Given the description of an element on the screen output the (x, y) to click on. 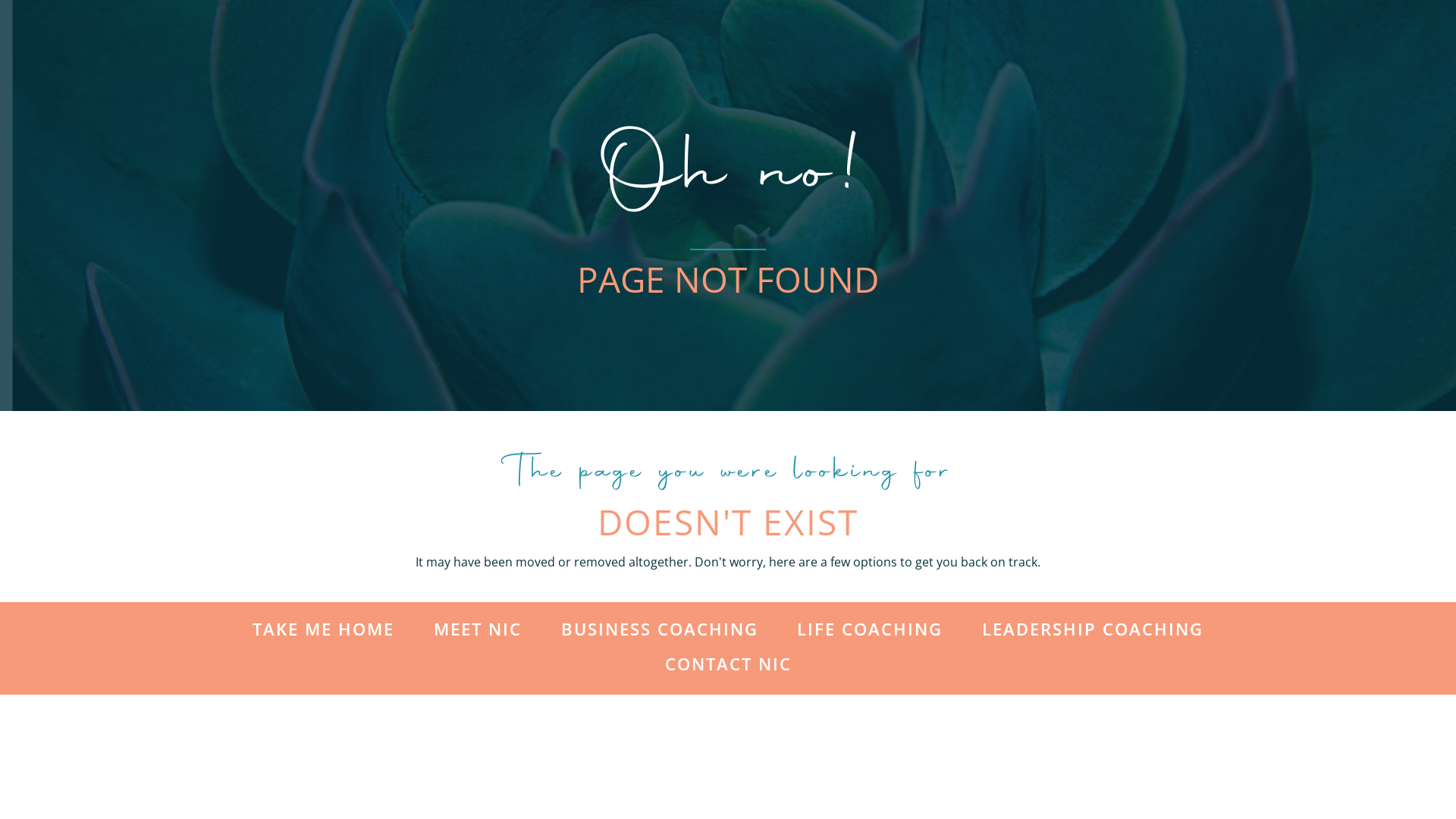
LEADERSHIP COACHING Element type: text (1092, 628)
CONTACT NIC Element type: text (728, 663)
TAKE ME HOME Element type: text (323, 628)
LIFE COACHING Element type: text (869, 628)
BUSINESS COACHING Element type: text (658, 628)
MEET NIC Element type: text (477, 628)
